Given the description of an element on the screen output the (x, y) to click on. 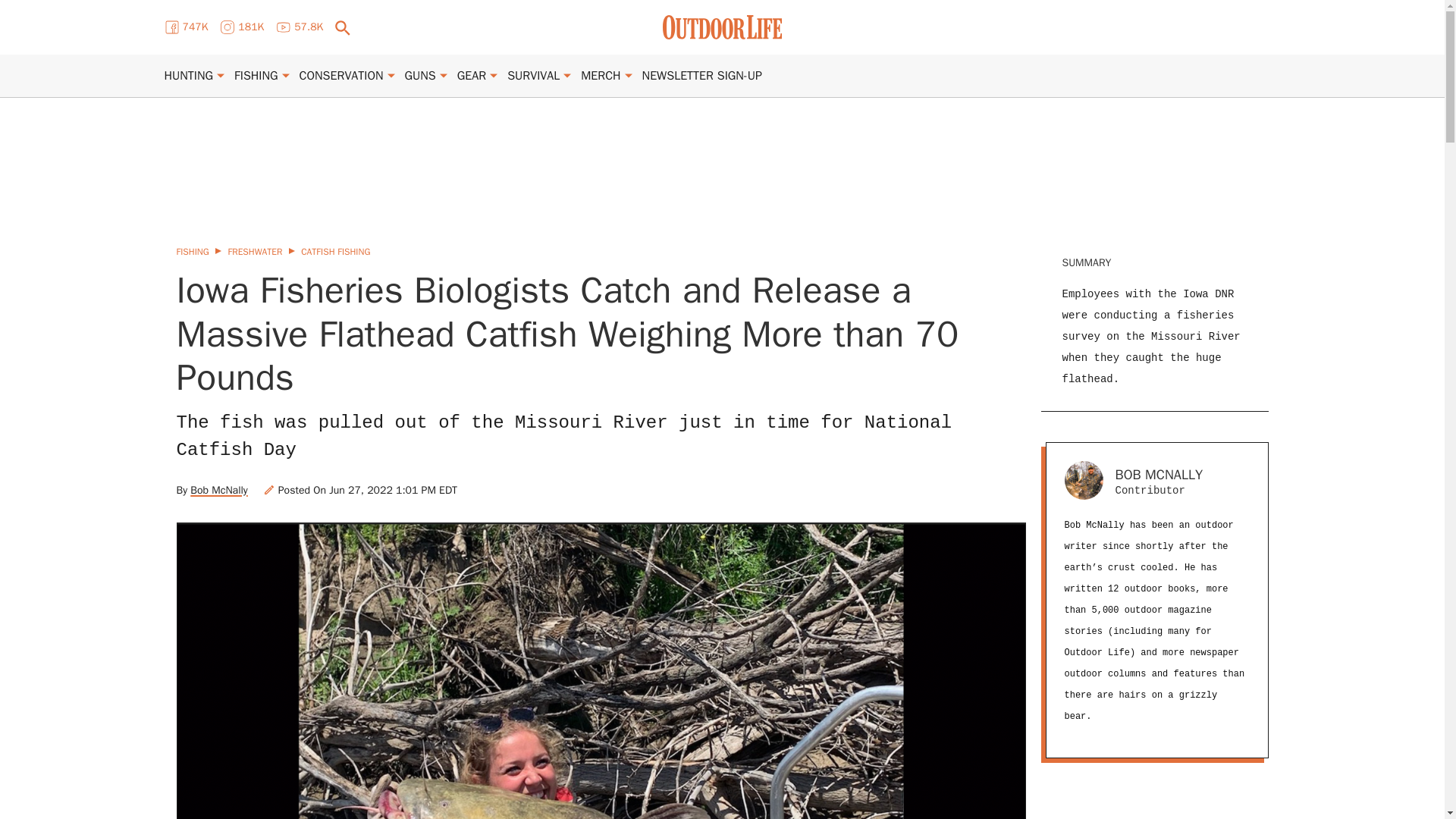
Conservation (341, 75)
Survival (532, 75)
Merch (600, 75)
Fishing (256, 75)
Hunting (187, 75)
Newsletter Sign-up (701, 75)
Guns (419, 75)
Gear (471, 75)
